Given the description of an element on the screen output the (x, y) to click on. 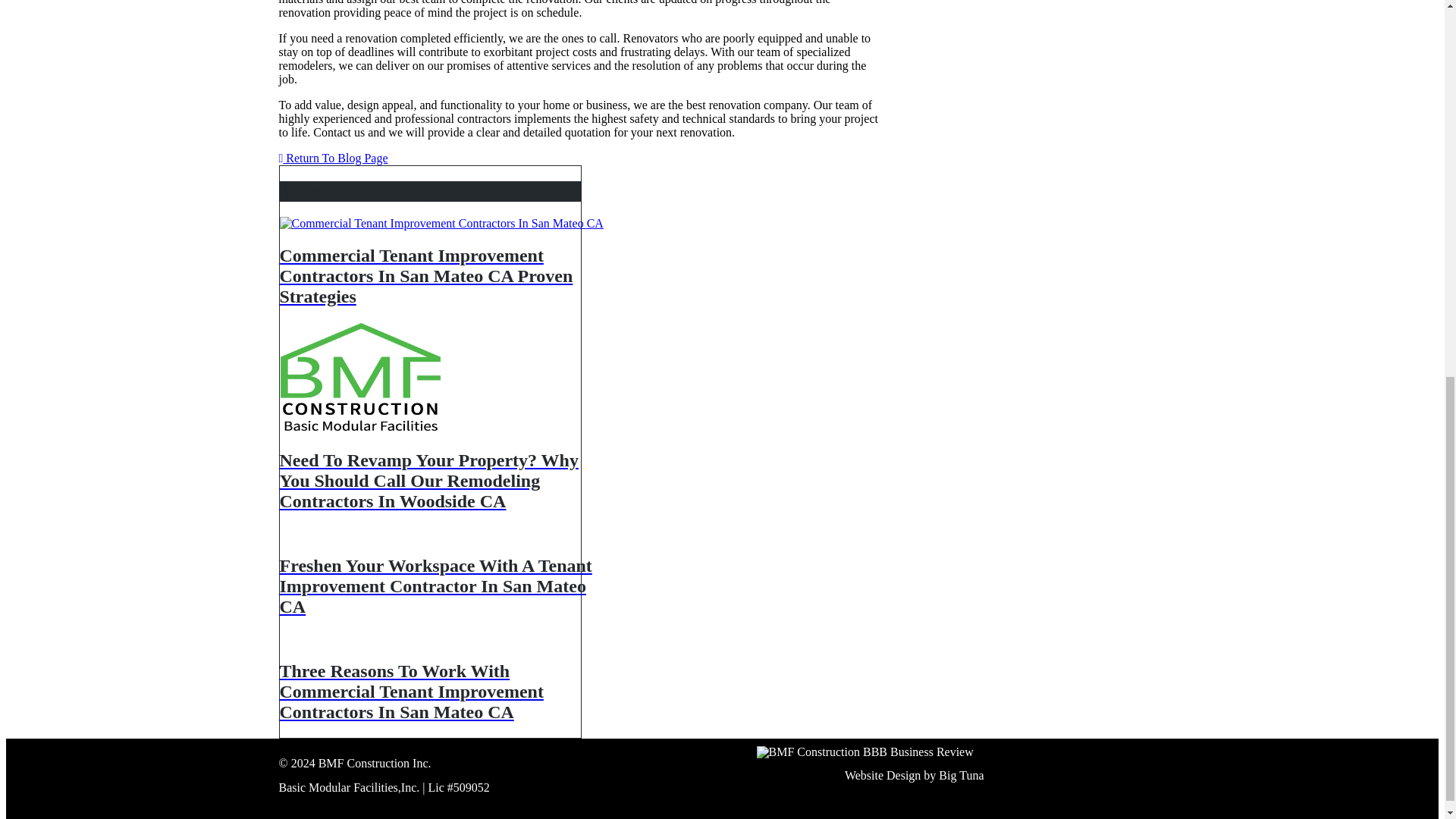
Return To Blog Page (333, 157)
Big Tuna (961, 775)
Website Design (882, 775)
